Given the description of an element on the screen output the (x, y) to click on. 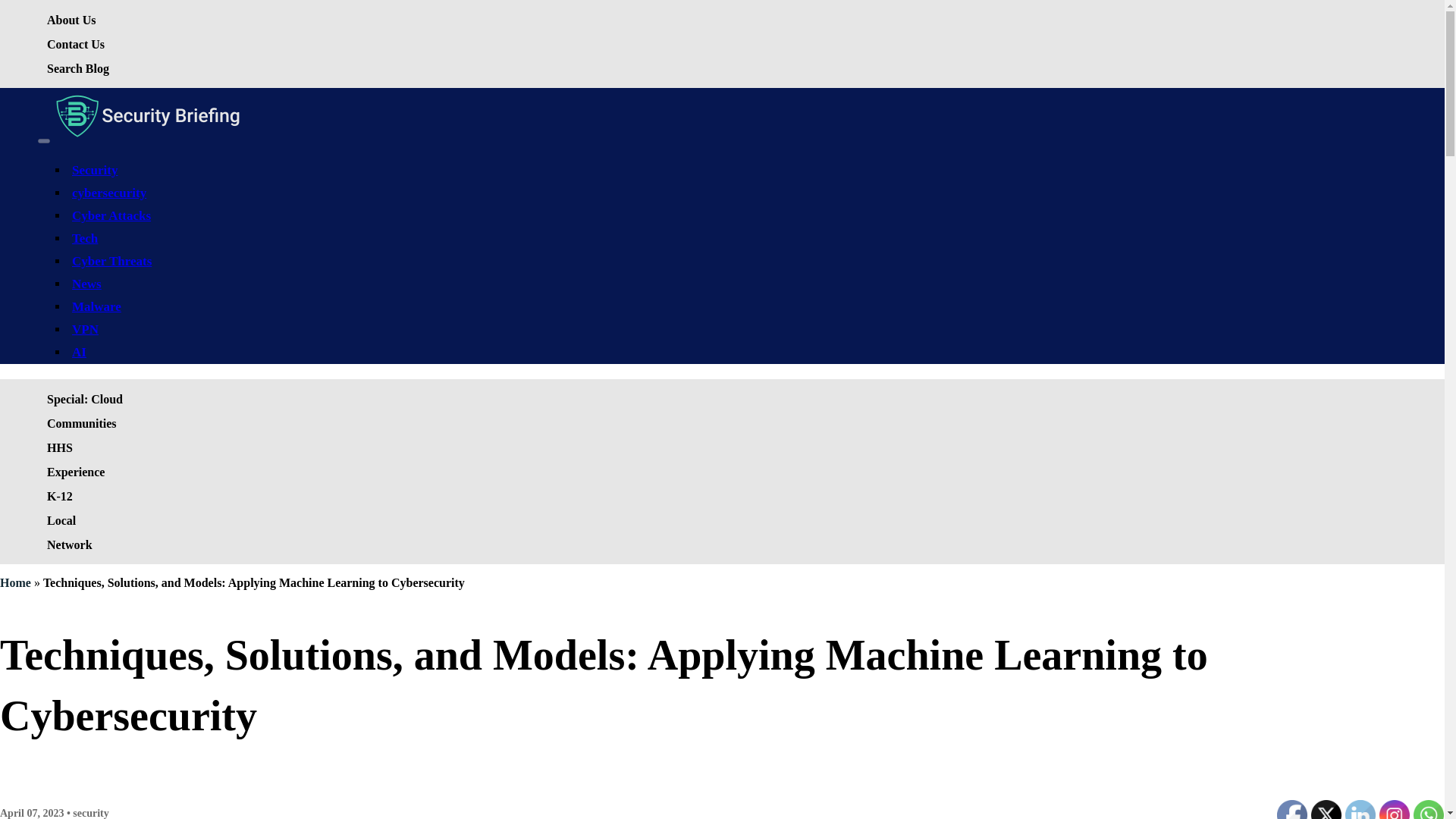
Network (69, 544)
Special: Cloud (84, 398)
Experience (75, 471)
WhatsApp (1428, 809)
Contact Us (75, 44)
Security (94, 169)
Facebook (1291, 809)
Home (15, 582)
LinkedIn (1360, 809)
Tech (84, 237)
